Given the description of an element on the screen output the (x, y) to click on. 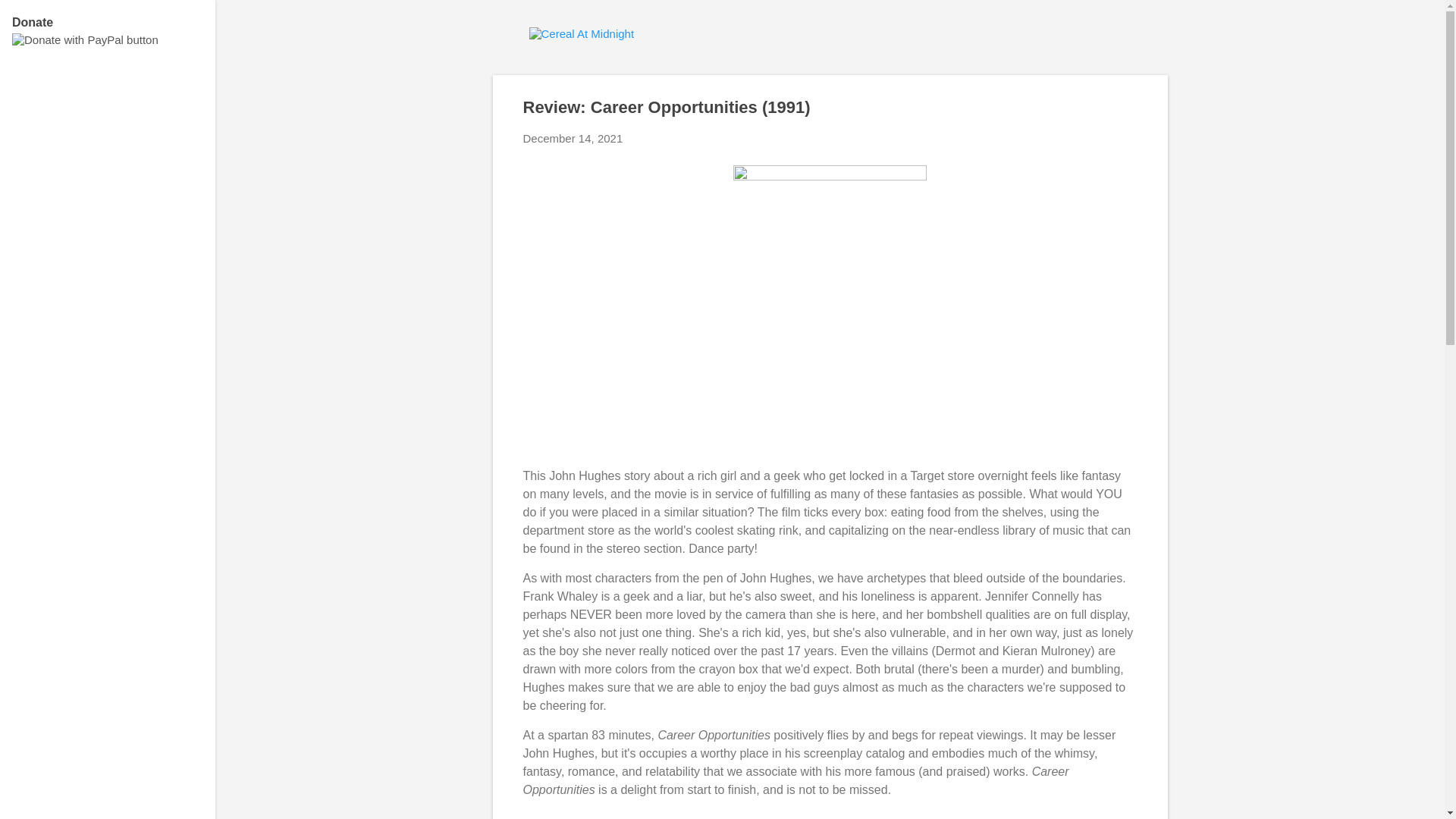
permanent link (572, 137)
Search (29, 18)
December 14, 2021 (572, 137)
